Given the description of an element on the screen output the (x, y) to click on. 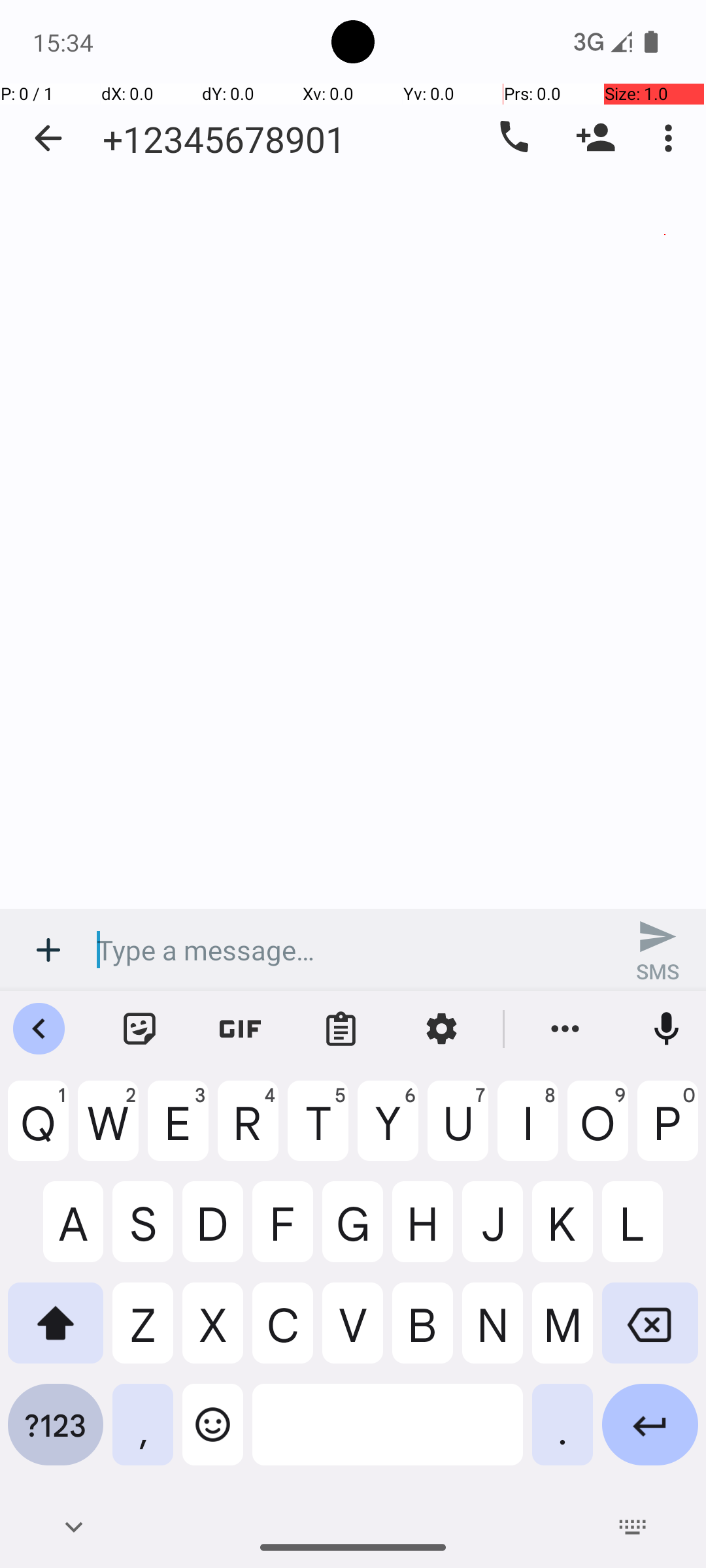
+12345678901 Element type: android.widget.TextView (223, 138)
